Given the description of an element on the screen output the (x, y) to click on. 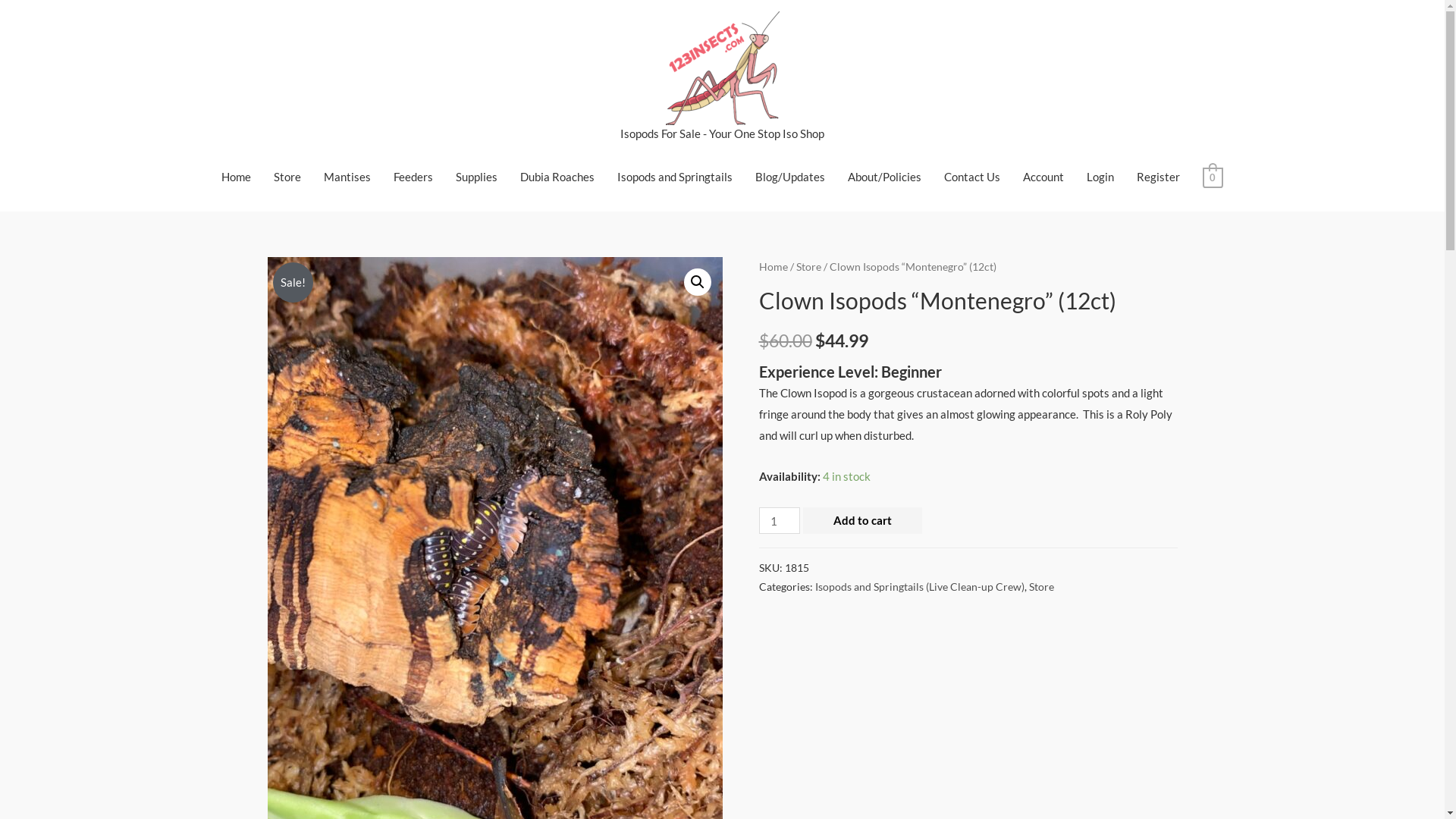
Contact Us Element type: text (971, 175)
Login Element type: text (1100, 175)
Blog/Updates Element type: text (789, 175)
Isopods and Springtails (Live Clean-up Crew) Element type: text (918, 586)
Dubia Roaches Element type: text (556, 175)
Home Element type: text (236, 175)
Qty Element type: hover (778, 520)
Register Element type: text (1158, 175)
Home Element type: text (772, 265)
Store Element type: text (808, 265)
Supplies Element type: text (476, 175)
0 Element type: text (1212, 176)
Isopods and Springtails Element type: text (674, 175)
Account Element type: text (1043, 175)
Feeders Element type: text (413, 175)
Store Element type: text (287, 175)
About/Policies Element type: text (884, 175)
Store Element type: text (1040, 586)
Add to cart Element type: text (862, 520)
Mantises Element type: text (347, 175)
